Given the description of an element on the screen output the (x, y) to click on. 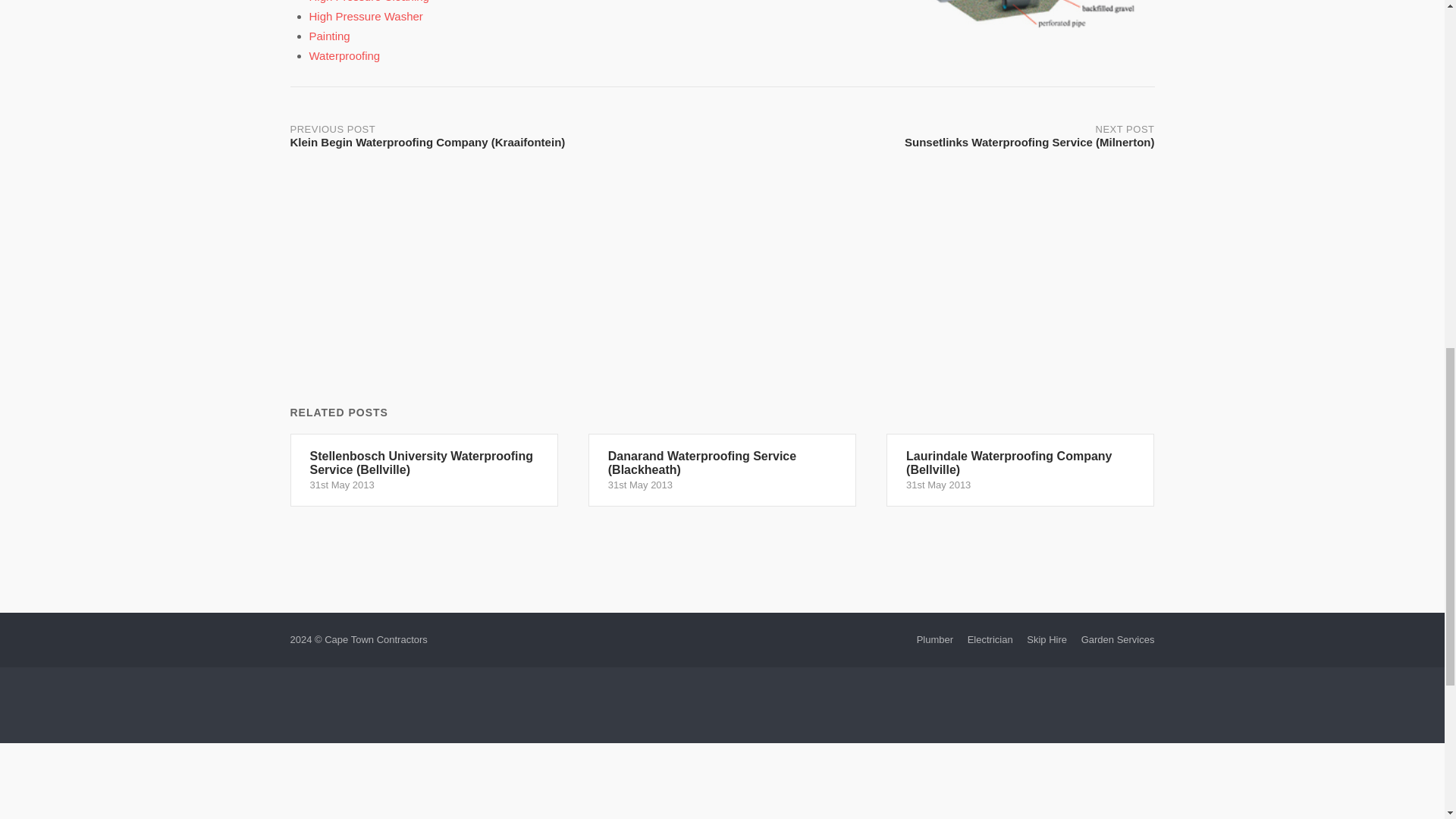
Advertisement (721, 708)
High Pressure Washer (365, 15)
Skip Hire (1046, 639)
Plumber (935, 639)
High Pressure Cleaning (368, 1)
High Pressure Cleaning (368, 1)
High Pressure Washer (365, 15)
Garden Services (1117, 639)
Waterproofing (344, 55)
Painting (329, 35)
Electrician (990, 639)
Painting (329, 35)
Waterproofing (344, 55)
